Given the description of an element on the screen output the (x, y) to click on. 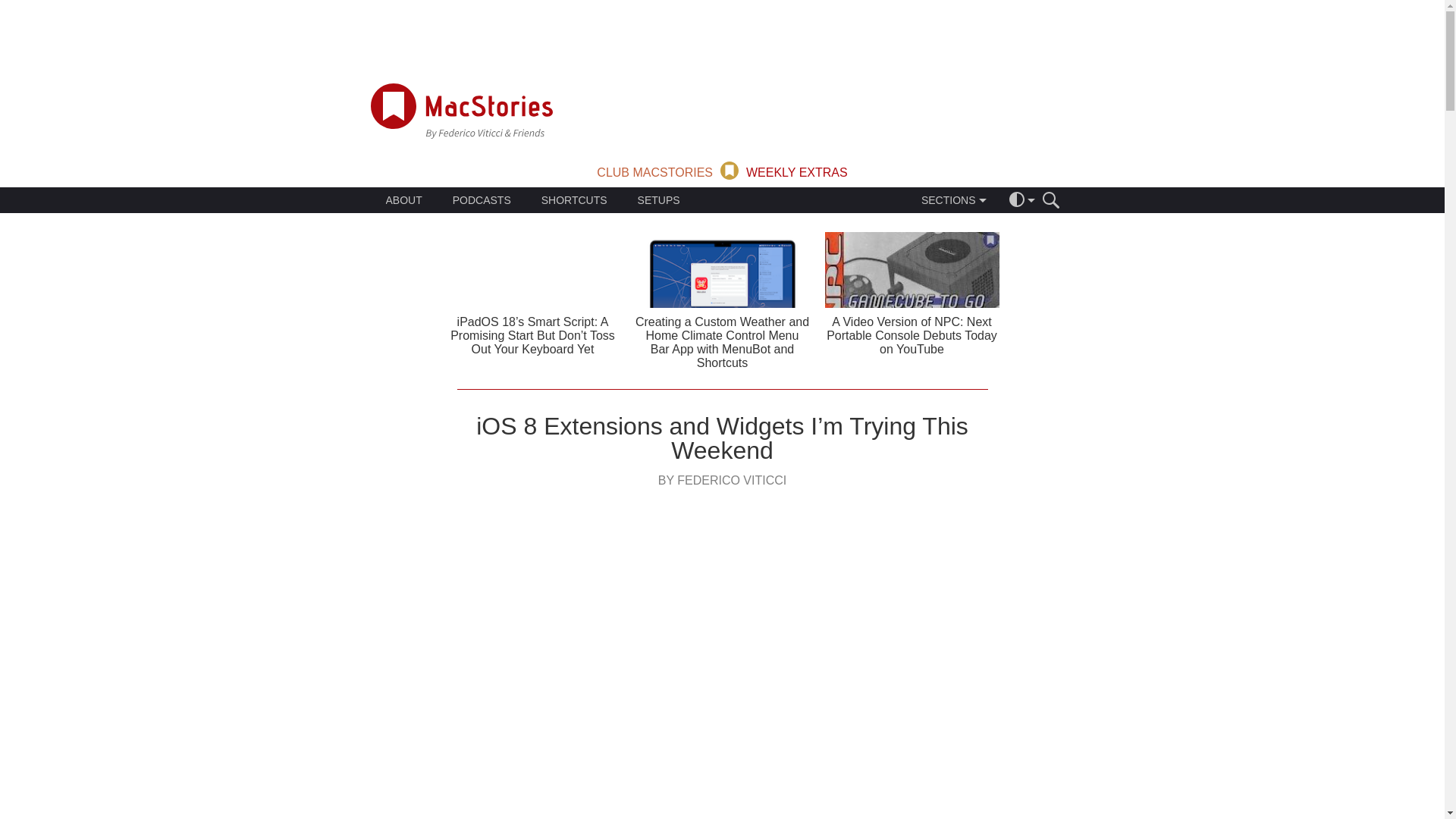
PODCASTS (481, 199)
CLUB MACSTORIESWEEKLY EXTRAS (721, 169)
SETUPS (658, 199)
SHORTCUTS (574, 199)
ABOUT (403, 199)
BY FEDERICO VITICCI (722, 480)
